Given the description of an element on the screen output the (x, y) to click on. 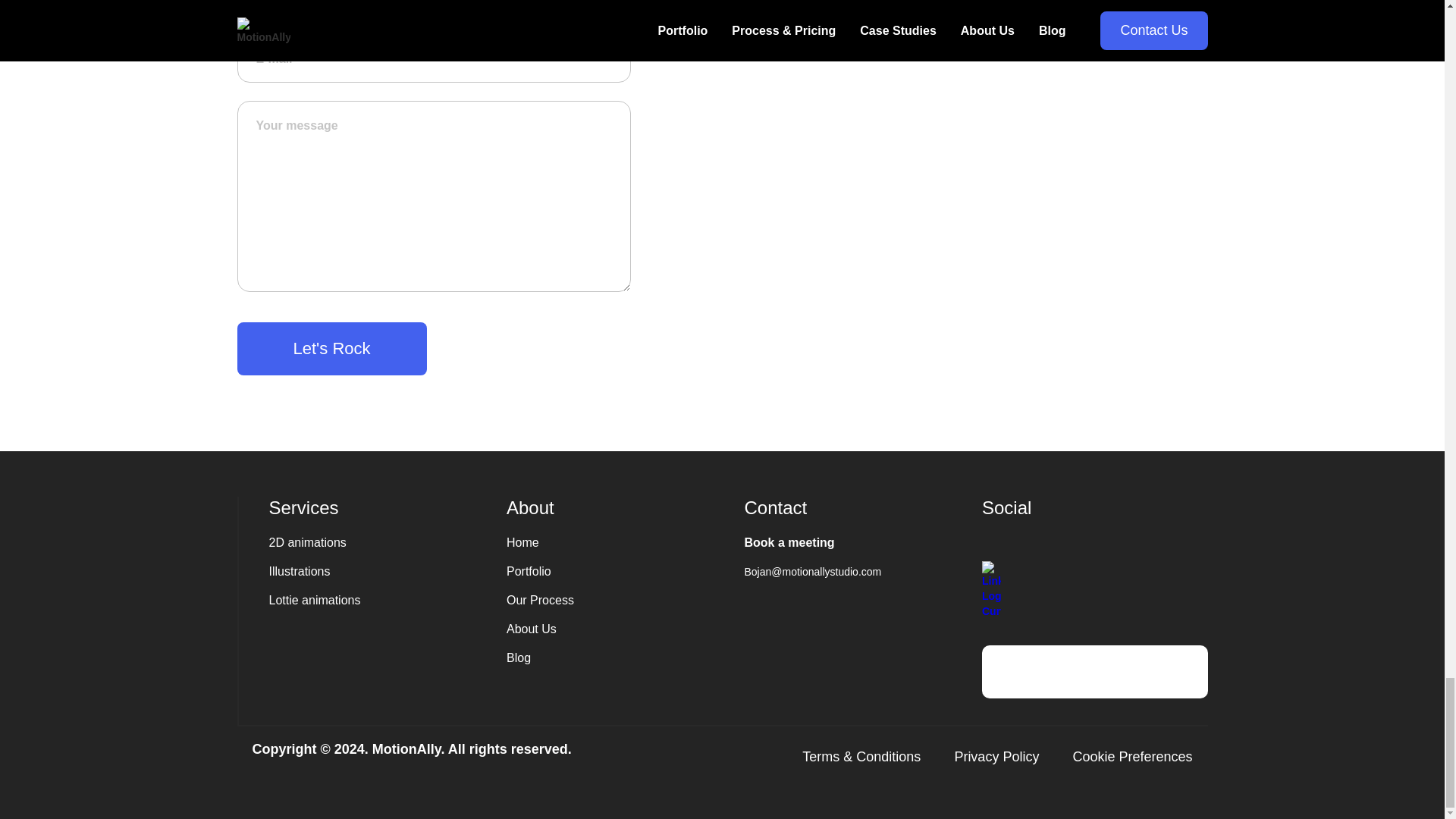
Privacy Policy (996, 756)
Let's Rock (330, 348)
Let's Rock (330, 348)
2D animations (381, 547)
Portfolio (619, 571)
Cookie Preferences (1131, 756)
Our Process (619, 600)
Book a meeting (857, 542)
Home (619, 542)
About Us (619, 628)
Blog (619, 658)
Lottie animations (381, 605)
Illustrations (381, 576)
